Given the description of an element on the screen output the (x, y) to click on. 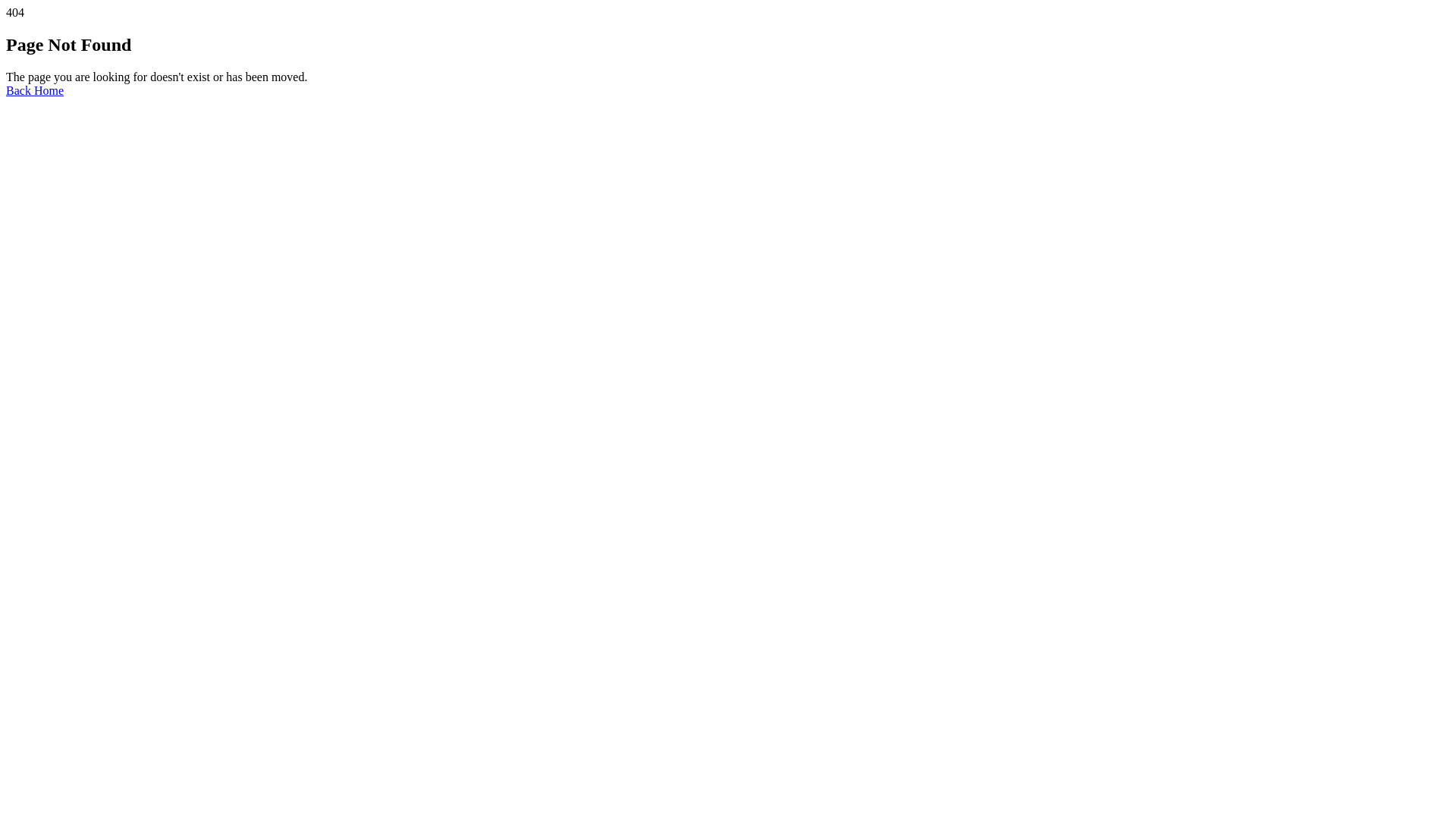
Back Home Element type: text (34, 90)
